Given the description of an element on the screen output the (x, y) to click on. 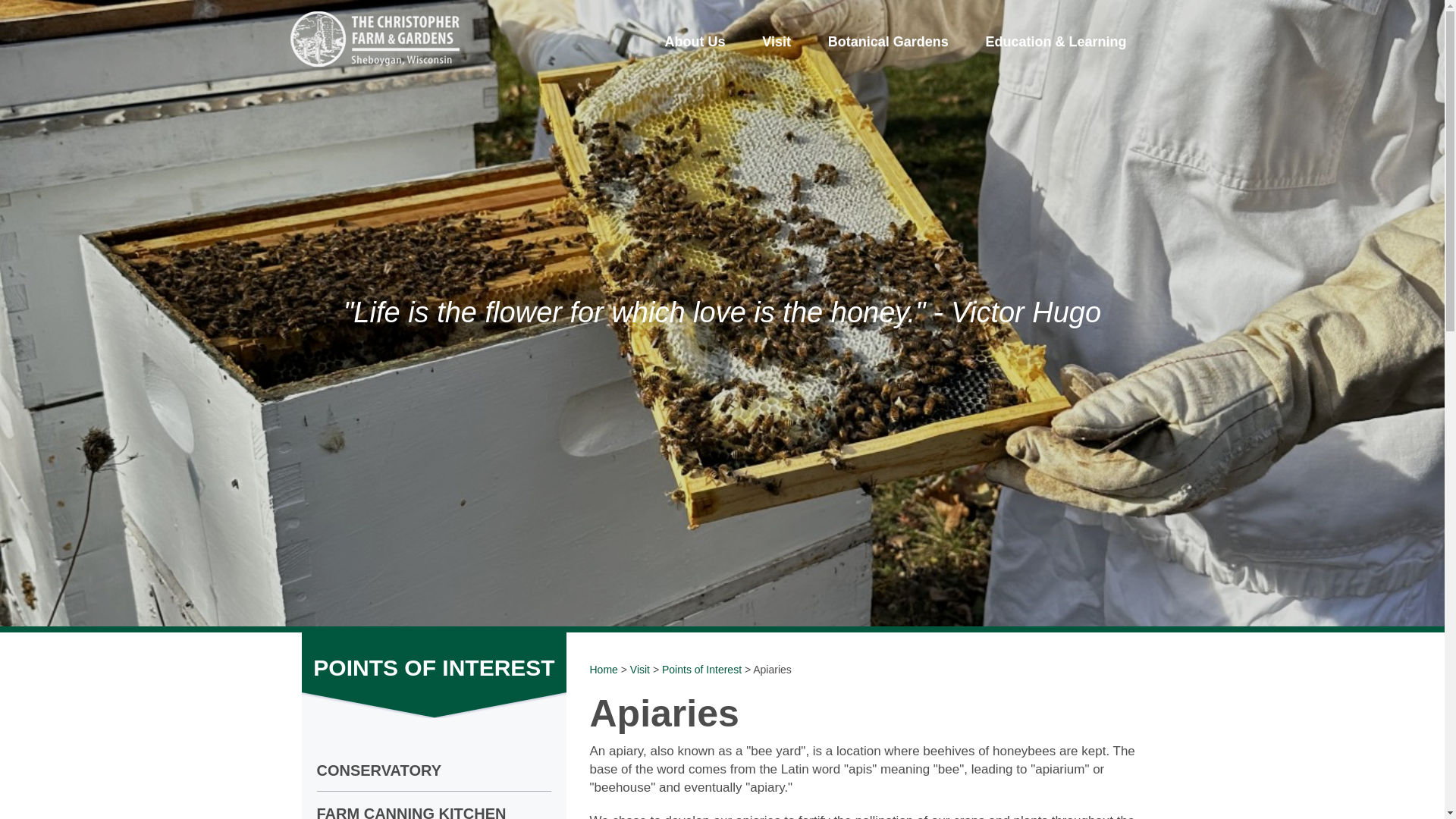
Botanical Gardens (887, 41)
Go to the Visit page (776, 41)
Go to the About Us page (694, 41)
Visit (776, 41)
Go to the Botanical Gardens page (887, 41)
Visit (639, 669)
About Us (694, 41)
Home (603, 669)
